Given the description of an element on the screen output the (x, y) to click on. 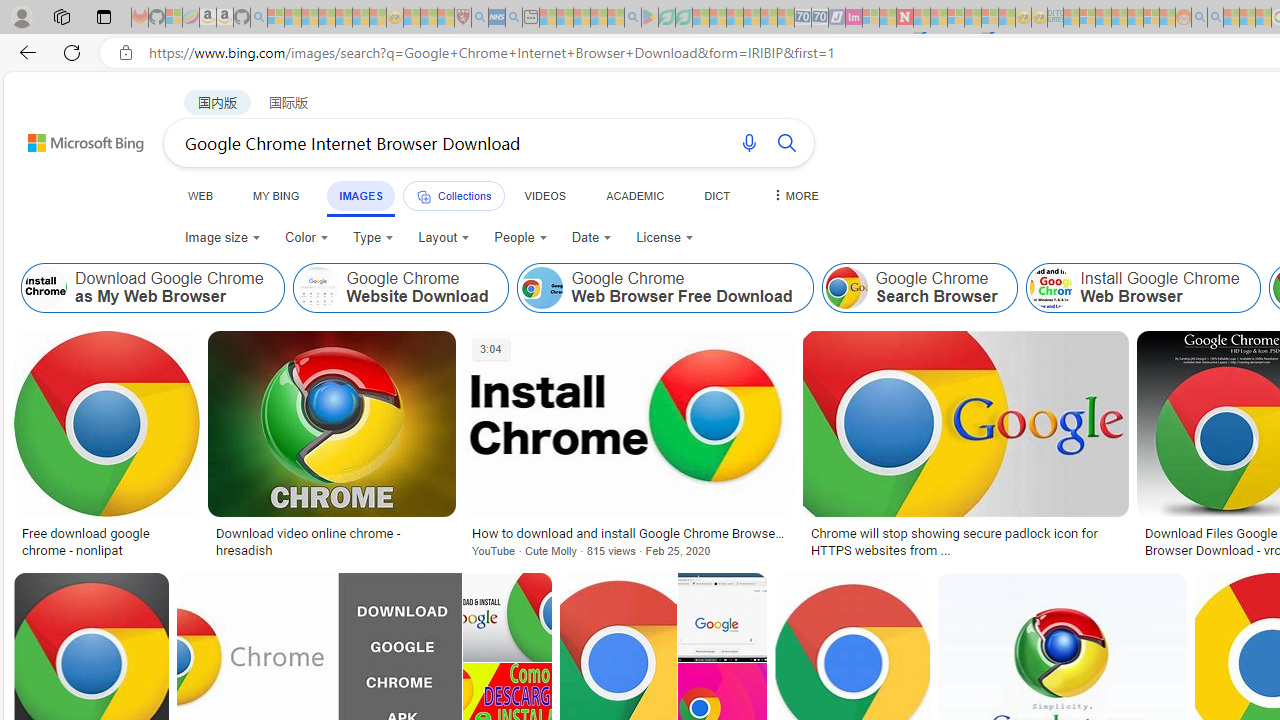
Search button (786, 142)
ACADEMIC (635, 195)
VIDEOS (545, 195)
MY BING (276, 195)
Download Google Chrome as My Web Browser (45, 287)
Layout (443, 237)
Install Google Chrome Web Browser (1051, 287)
Google Chrome Search Browser (846, 287)
Image result for Google Chrome Internet Browser Download (965, 423)
